Given the description of an element on the screen output the (x, y) to click on. 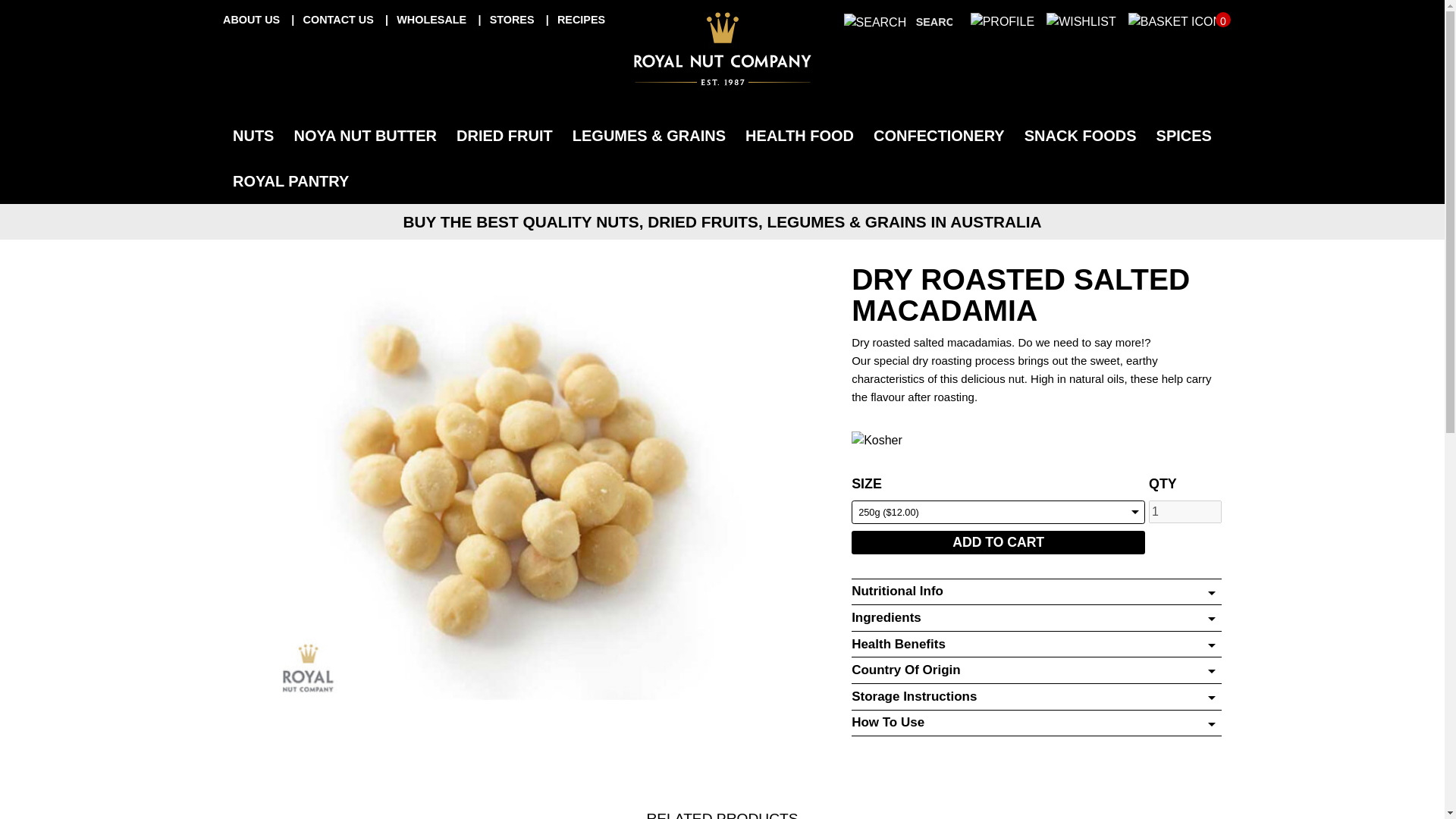
View your shopping cart (1174, 22)
RNC (721, 48)
WHOLESALE (432, 19)
RECIPES (581, 19)
CONTACT US (339, 19)
ABOUT US (252, 19)
STORES (513, 19)
1 (1184, 511)
